Given the description of an element on the screen output the (x, y) to click on. 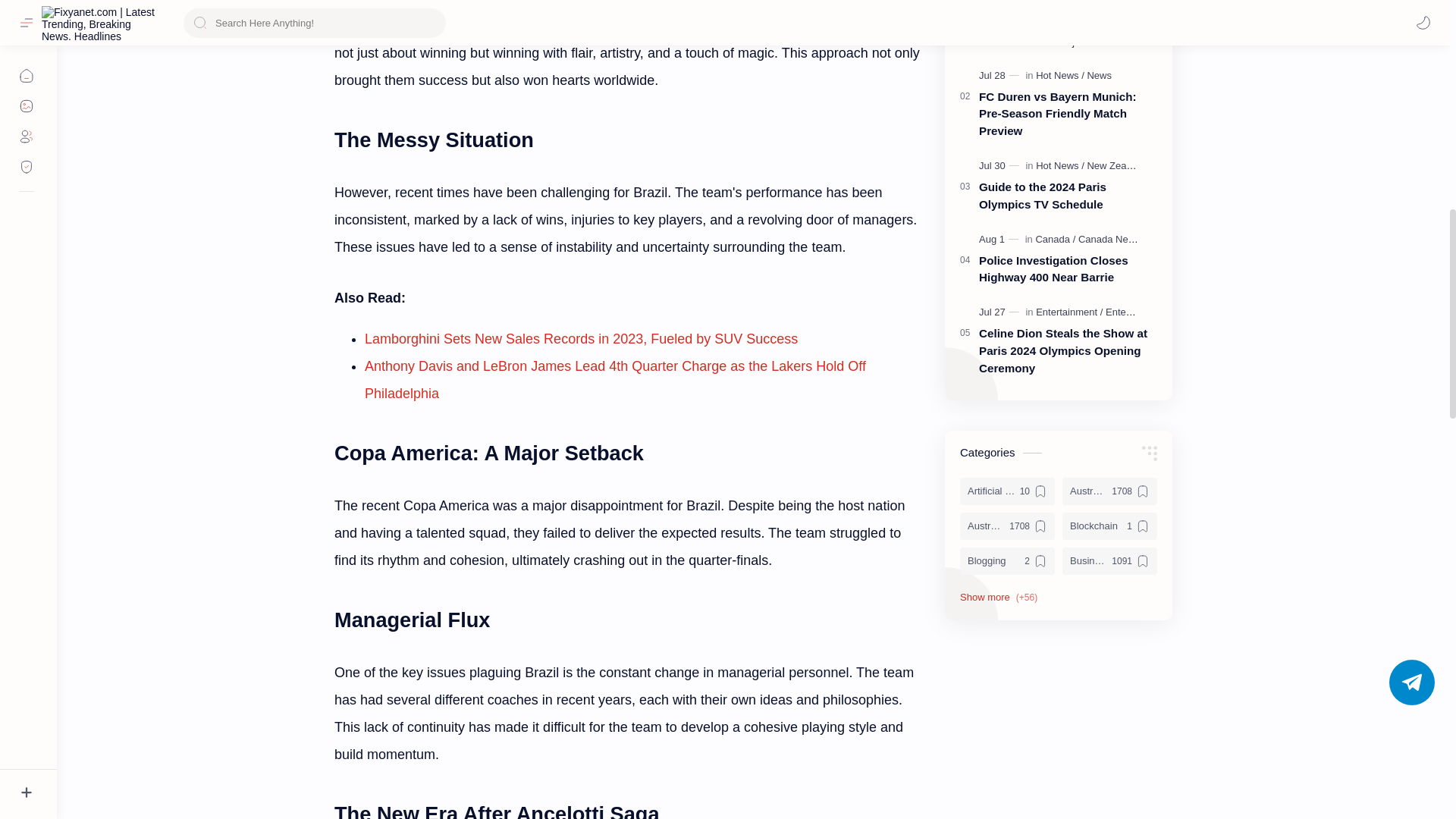
Published: August 1, 2024 (1000, 239)
Published: July 30, 2024 (1000, 165)
Published: July 28, 2024 (1000, 75)
Published: July 27, 2024 (1000, 312)
